Given the description of an element on the screen output the (x, y) to click on. 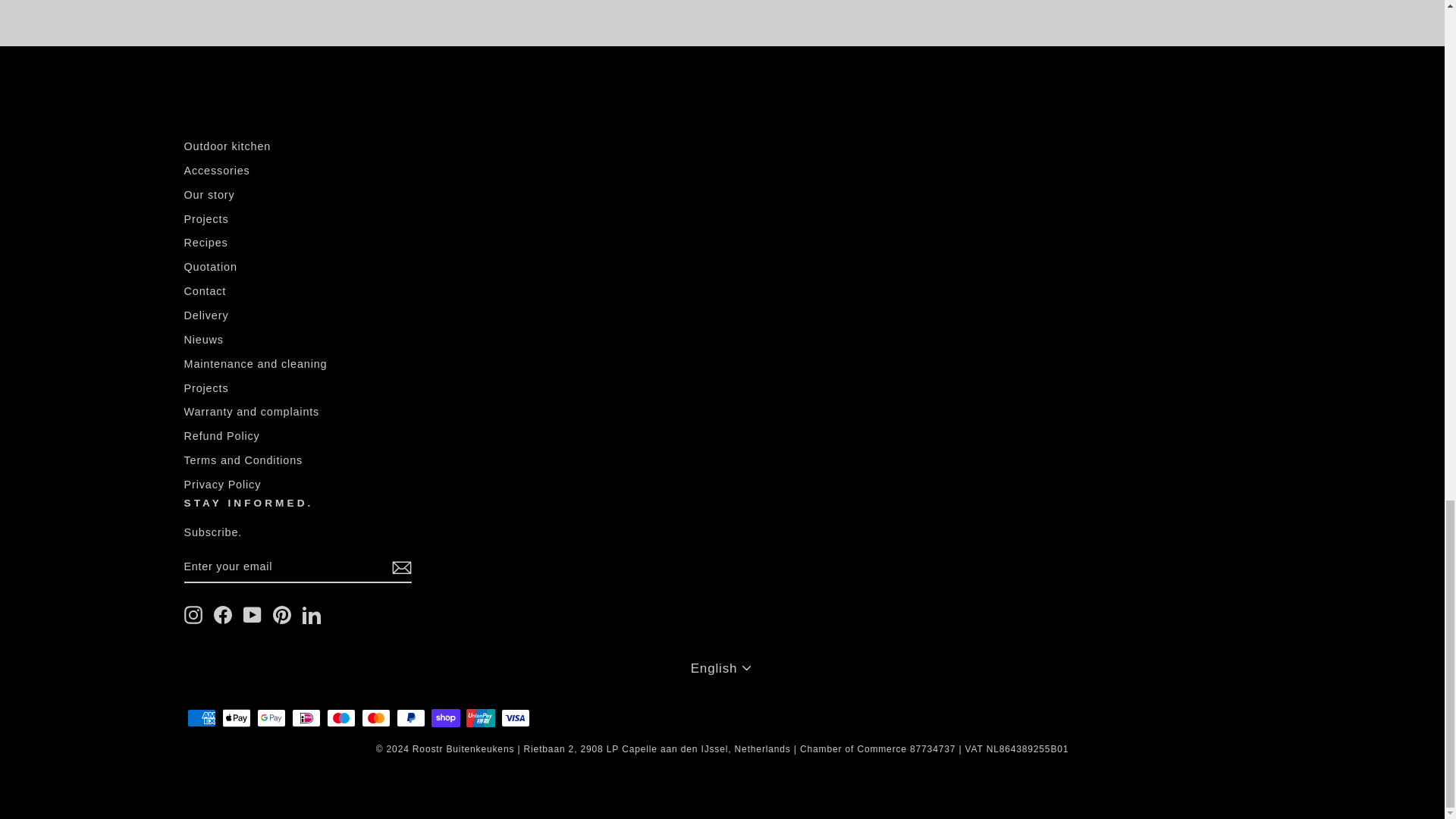
Google Pay (270, 718)
American Express (200, 718)
Roostr Buitenkeukens on YouTube (251, 615)
Roostr Buitenkeukens on Instagram (192, 615)
Roostr Buitenkeukens on Facebook (222, 615)
Roostr Buitenkeukens on LinkedIn (310, 615)
icon-email (400, 566)
Apple Pay (235, 718)
instagram (192, 615)
Roostr Buitenkeukens on Pinterest (282, 615)
